Given the description of an element on the screen output the (x, y) to click on. 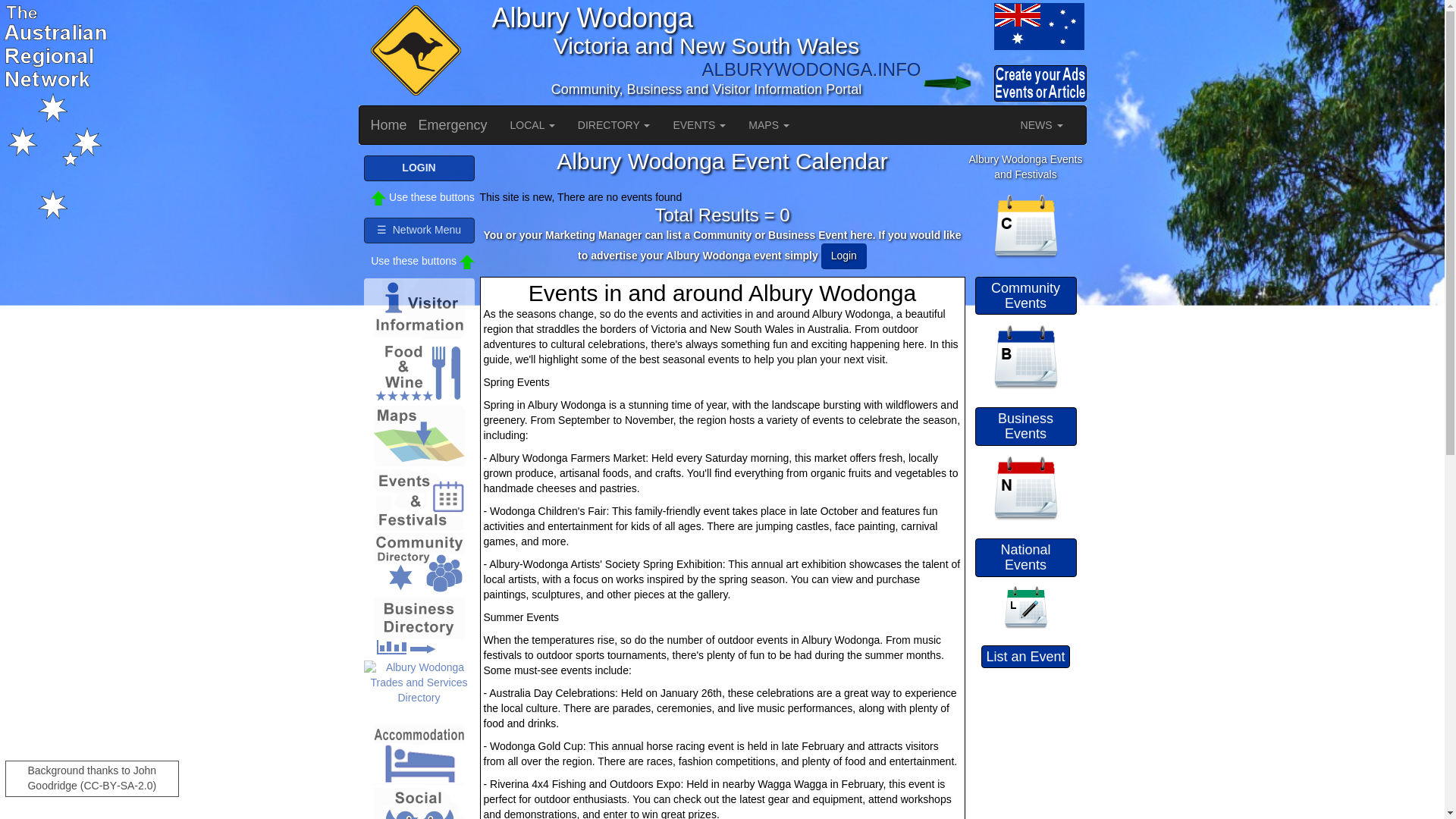
Business Events (1024, 357)
Albury Wodonga Australia (1037, 26)
LOCAL (532, 125)
DIRECTORY (614, 125)
Login to alburywodonga.info (956, 83)
Emergency (453, 125)
Home (389, 125)
National Events (1024, 488)
List an Event (1025, 607)
Community Events (1024, 226)
Australia (956, 26)
Albury Wodonga Skippycoin ICG (413, 52)
